Given the description of an element on the screen output the (x, y) to click on. 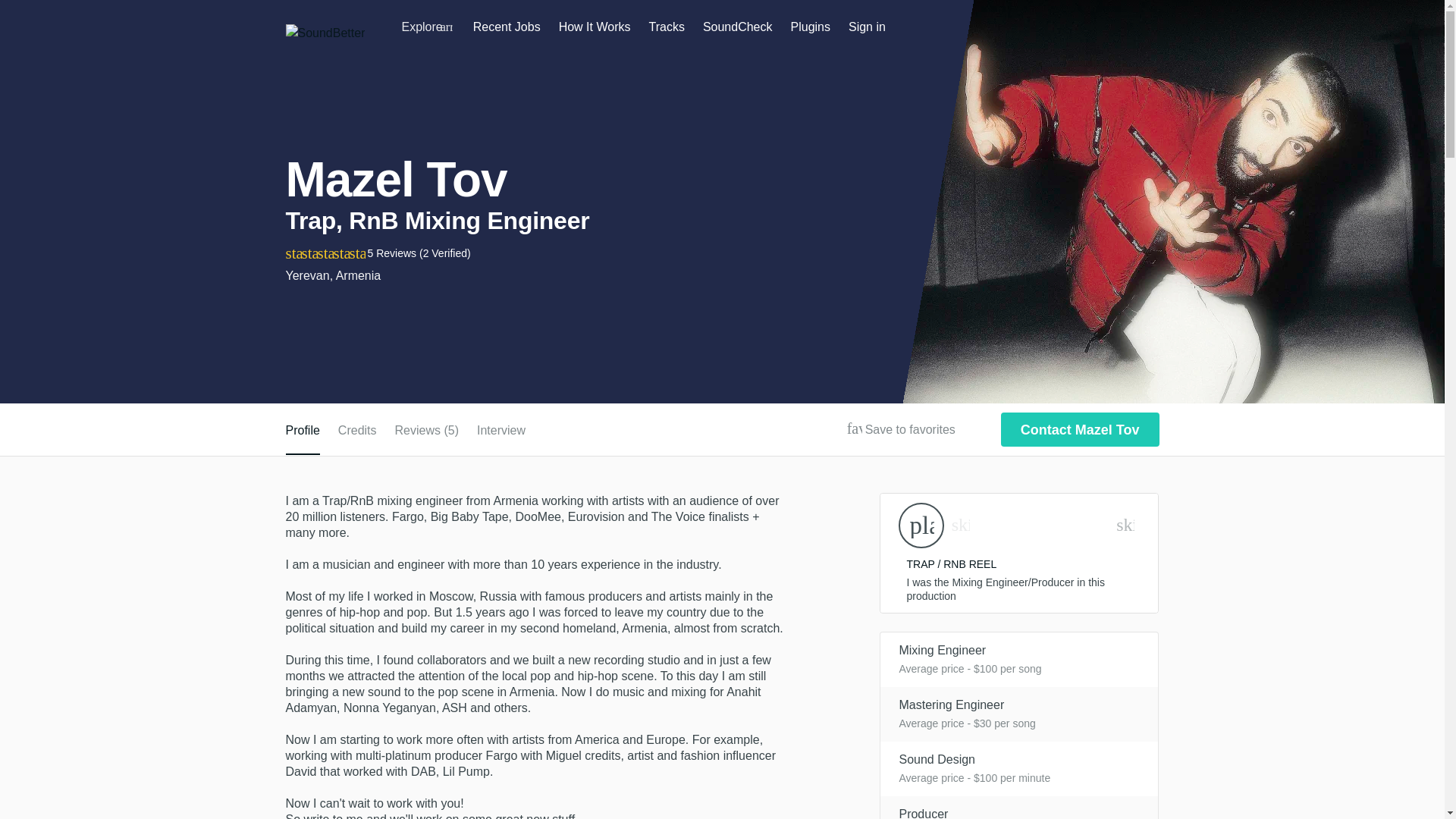
Save to favorites (854, 429)
SoundBetter (325, 33)
